Given the description of an element on the screen output the (x, y) to click on. 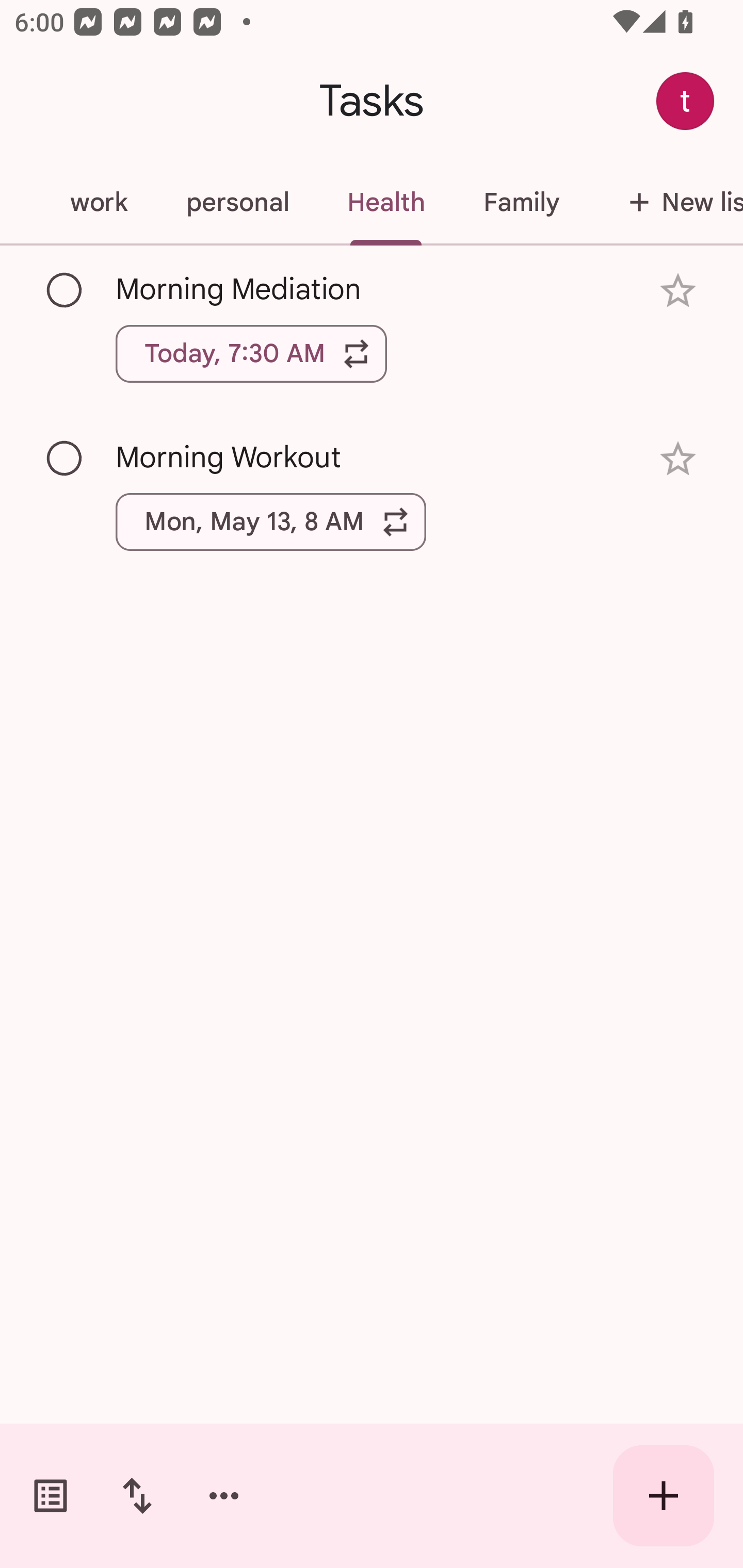
work (98, 202)
personal (237, 202)
Family (520, 202)
New list (665, 202)
Add star (677, 290)
Mark as complete (64, 290)
Today, 7:30 AM (251, 353)
Add star (677, 458)
Mark as complete (64, 459)
Mon, May 13, 8 AM (270, 522)
Switch task lists (50, 1495)
Create new task (663, 1495)
Change sort order (136, 1495)
More options (223, 1495)
